Given the description of an element on the screen output the (x, y) to click on. 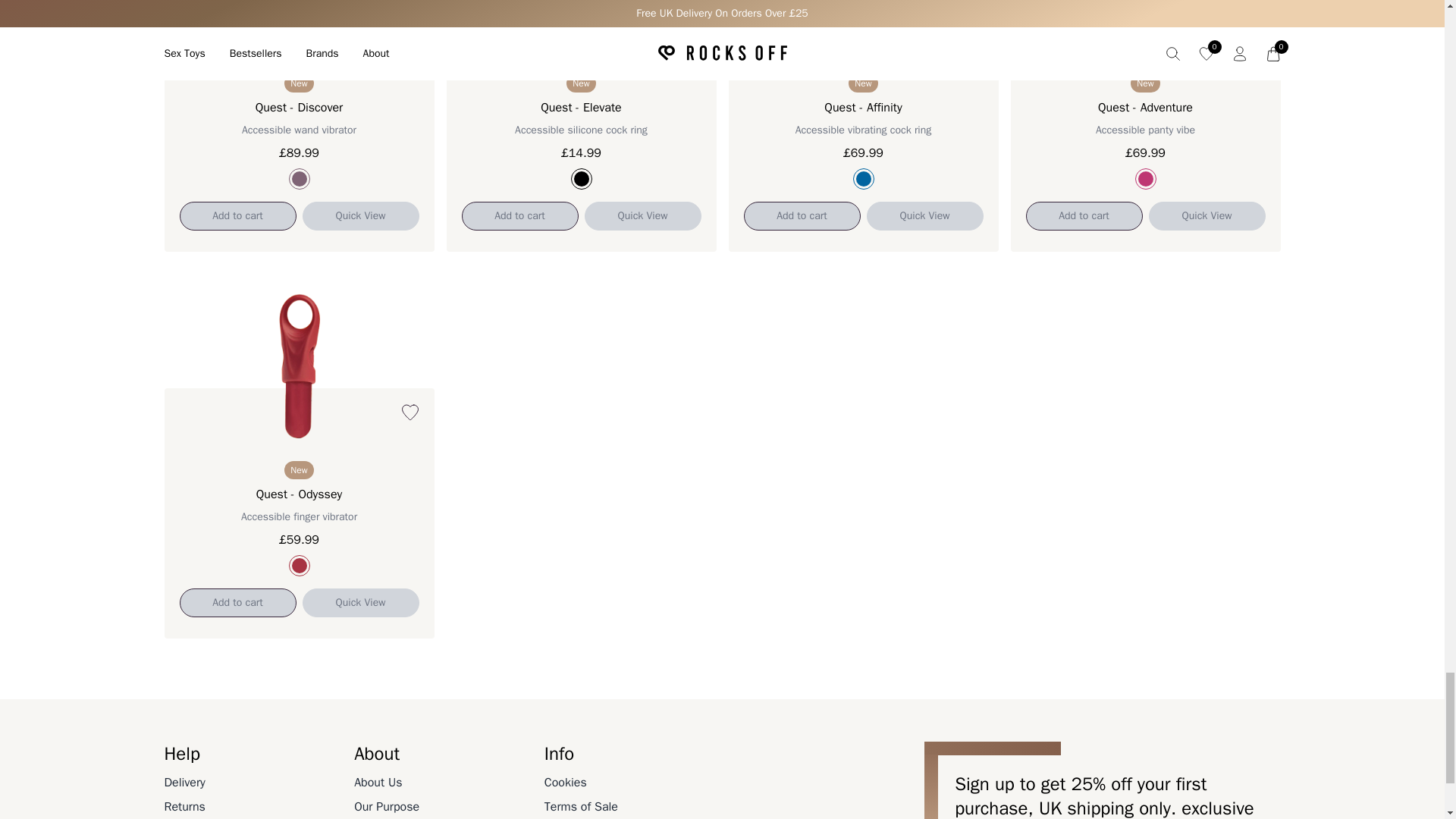
Quest - Affinity (863, 178)
Quest - Discover (298, 178)
Quest - Adventure (1145, 178)
Quest - Elevate (580, 178)
Quest - Odyssey (298, 565)
